Given the description of an element on the screen output the (x, y) to click on. 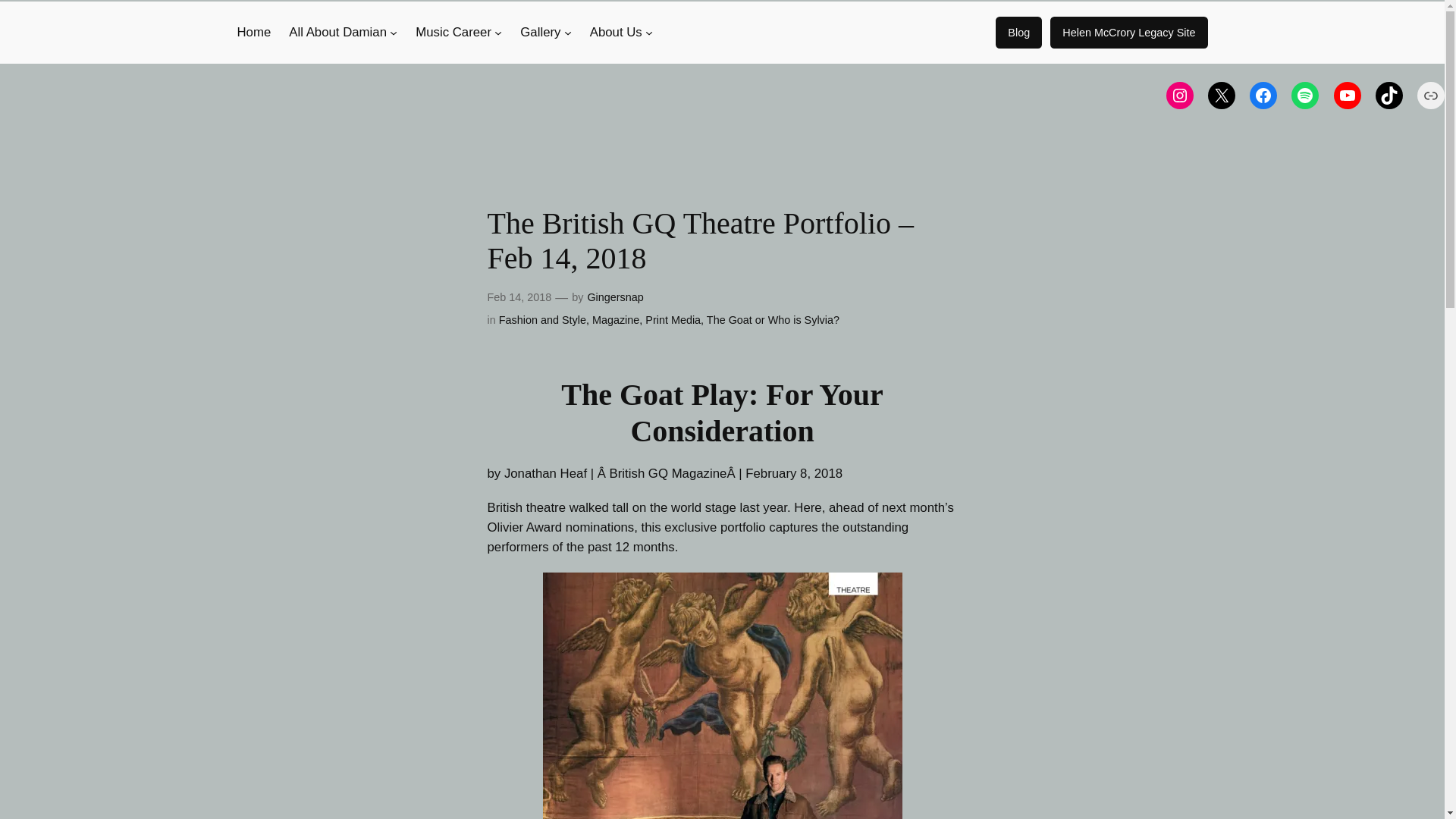
Gallery (539, 32)
Home (252, 32)
About Us (615, 32)
Music Career (453, 32)
All About Damian (337, 32)
